Given the description of an element on the screen output the (x, y) to click on. 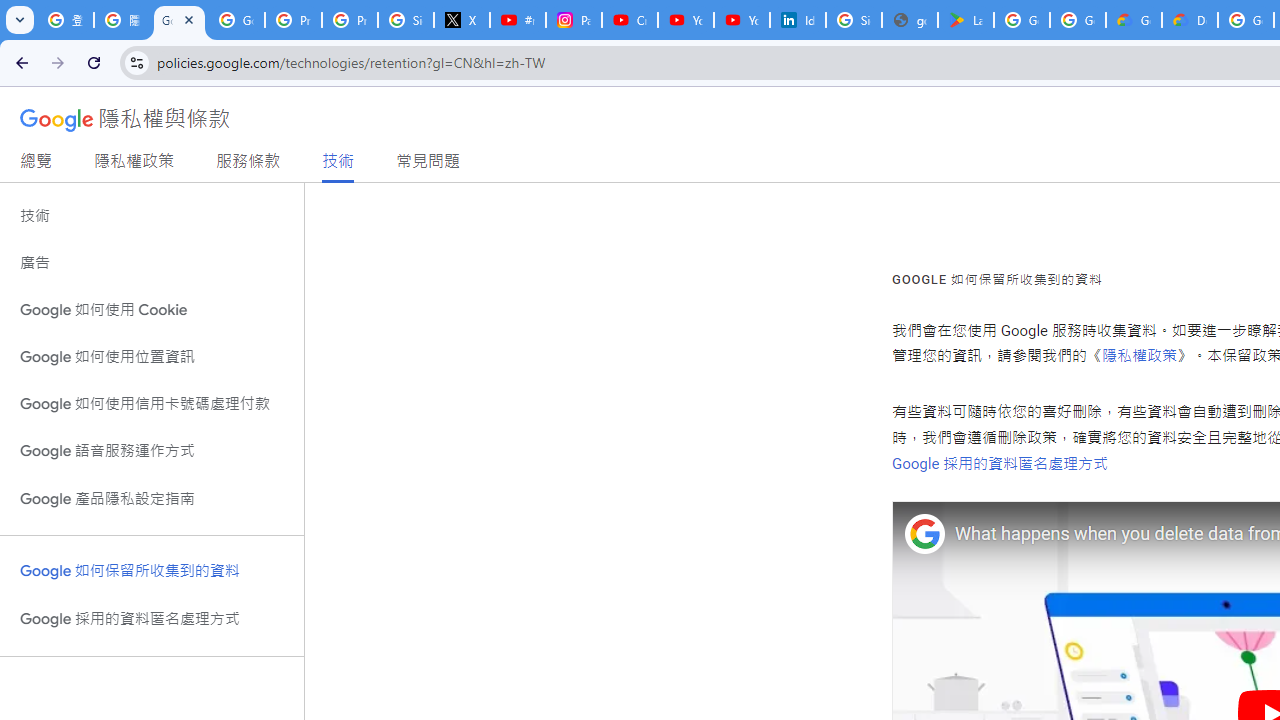
Identity verification via Persona | LinkedIn Help (797, 20)
Sign in - Google Accounts (853, 20)
google_privacy_policy_en.pdf (909, 20)
Government | Google Cloud (1133, 20)
